Given the description of an element on the screen output the (x, y) to click on. 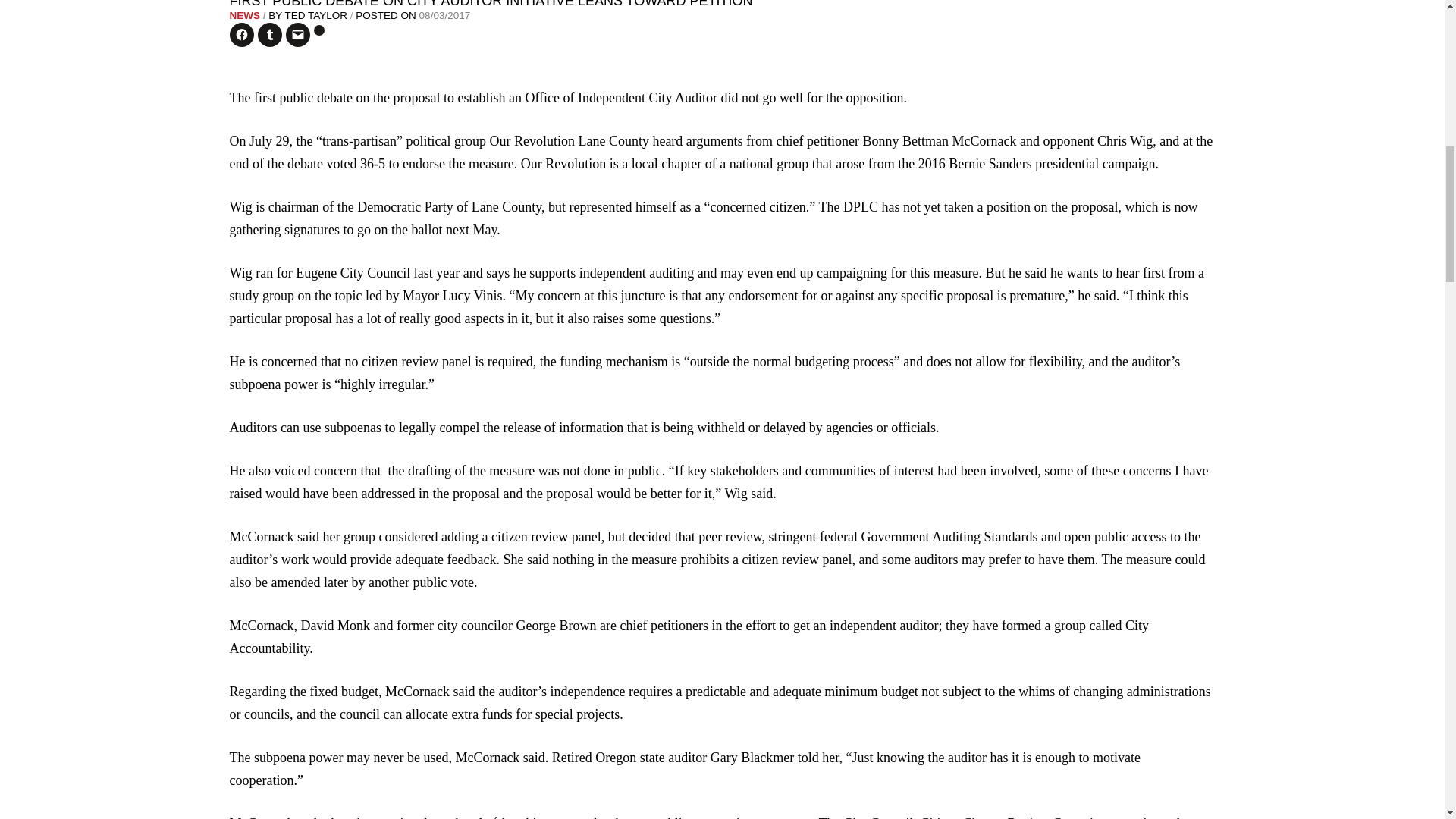
Click to share on Tumblr (269, 34)
Click to print (319, 30)
Click to share on Facebook (240, 34)
Click to email a link to a friend (296, 34)
